Given the description of an element on the screen output the (x, y) to click on. 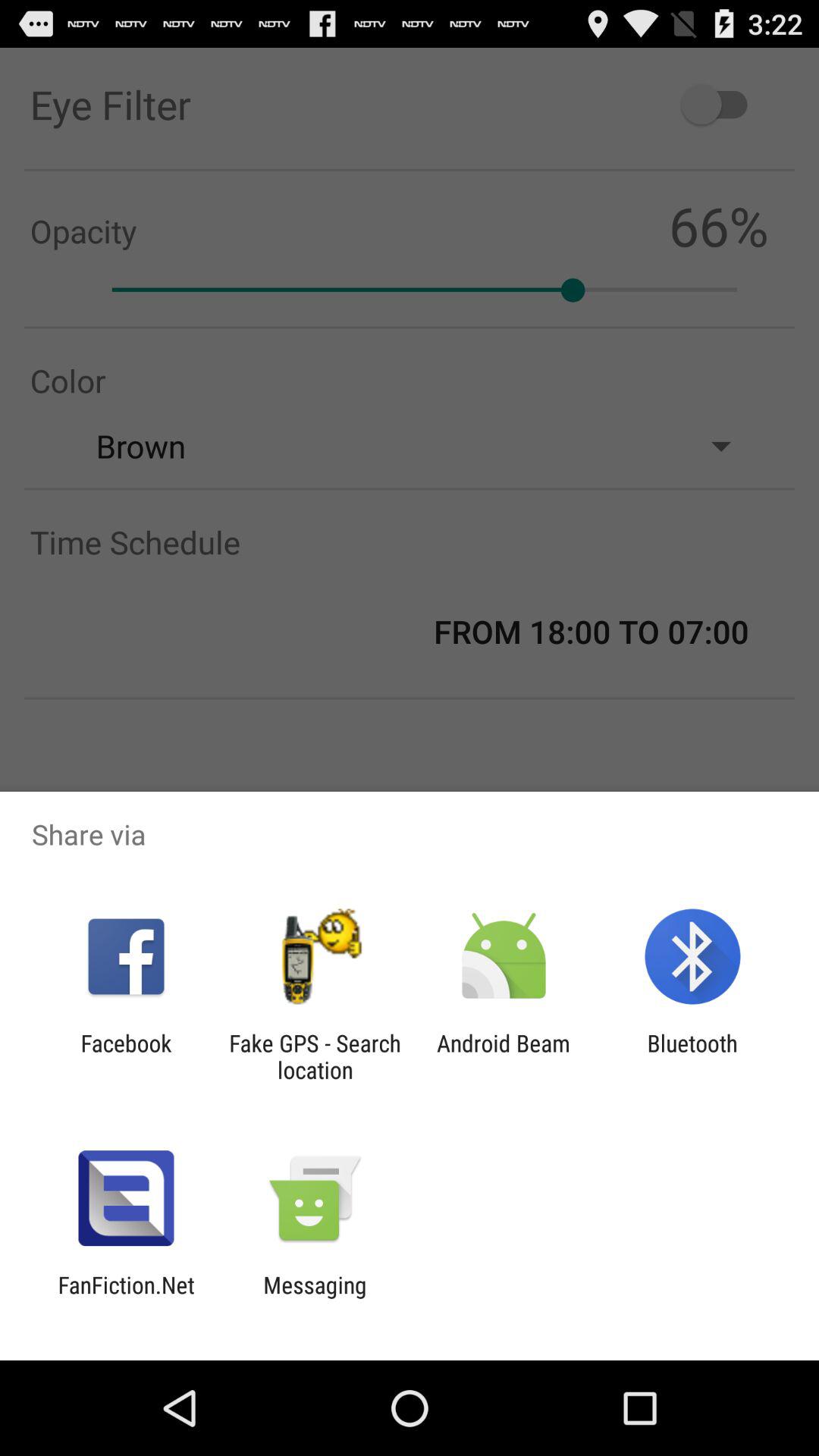
scroll to the fake gps search item (314, 1056)
